Given the description of an element on the screen output the (x, y) to click on. 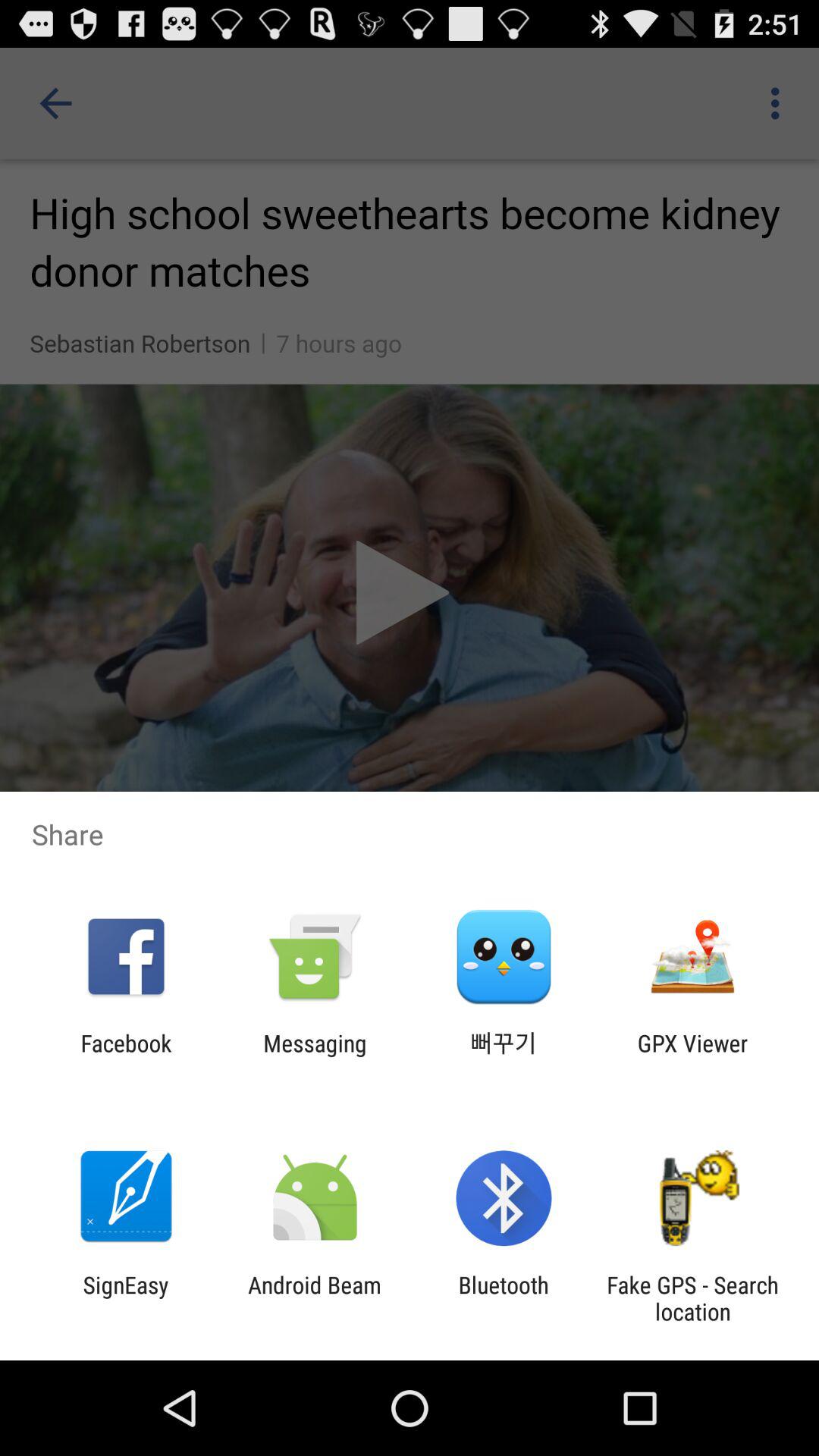
launch the icon to the right of the android beam (503, 1298)
